Given the description of an element on the screen output the (x, y) to click on. 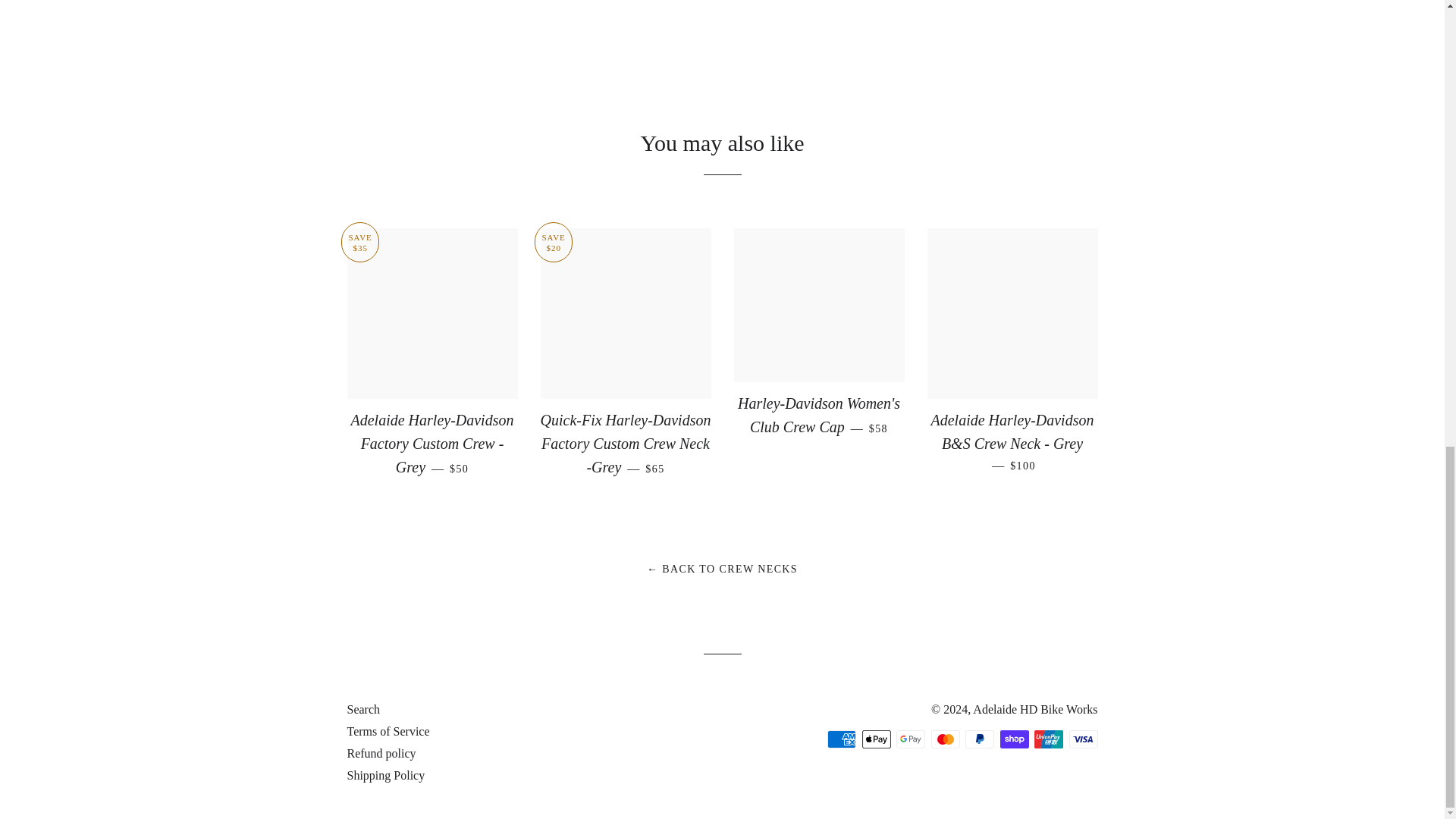
Visa (1082, 739)
Mastercard (945, 739)
PayPal (979, 739)
American Express (841, 739)
Union Pay (1047, 739)
Apple Pay (875, 739)
Shop Pay (1012, 739)
Google Pay (910, 739)
